Given the description of an element on the screen output the (x, y) to click on. 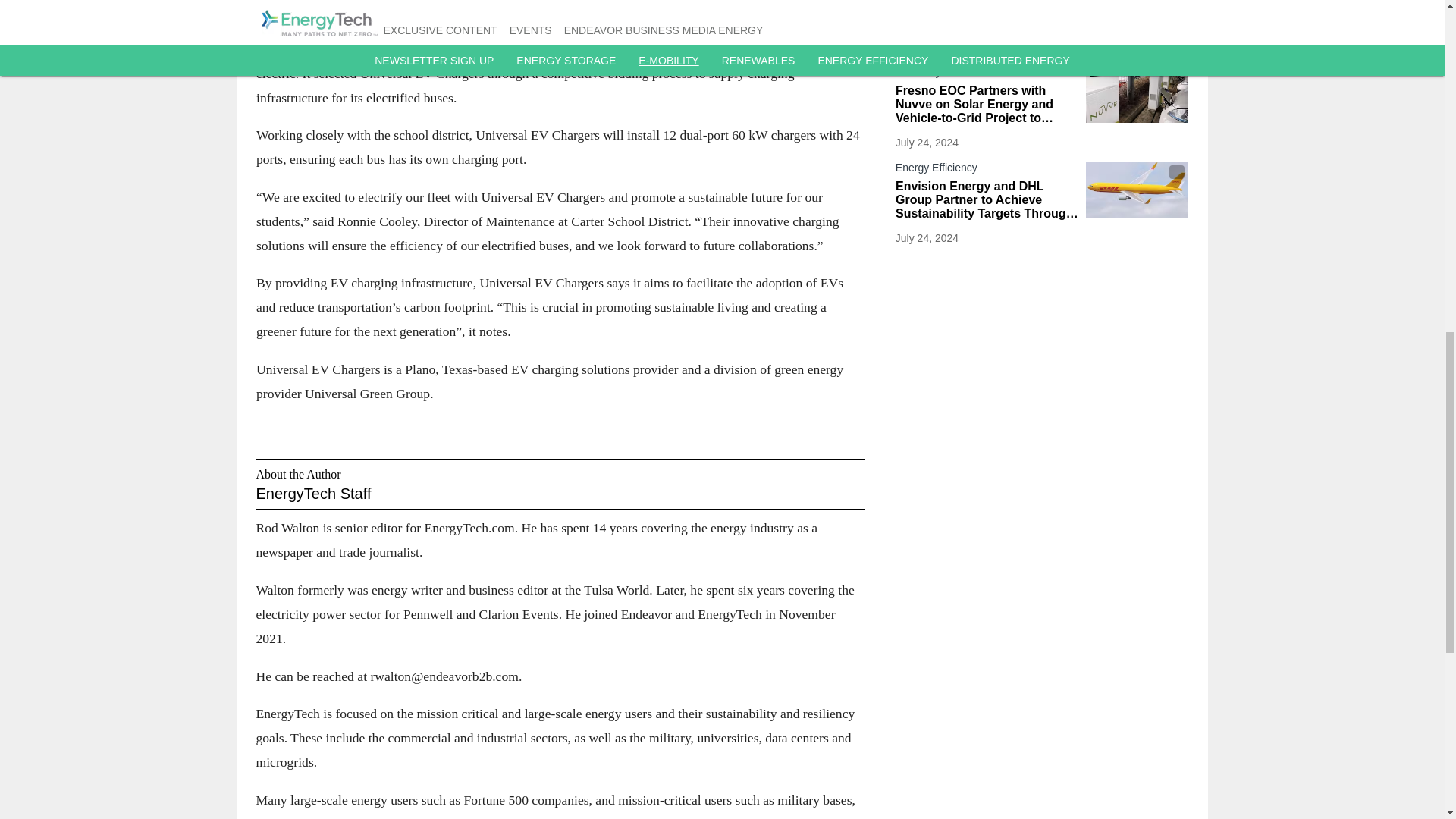
Energy Efficiency (986, 170)
e-Mobility (986, 75)
